Given the description of an element on the screen output the (x, y) to click on. 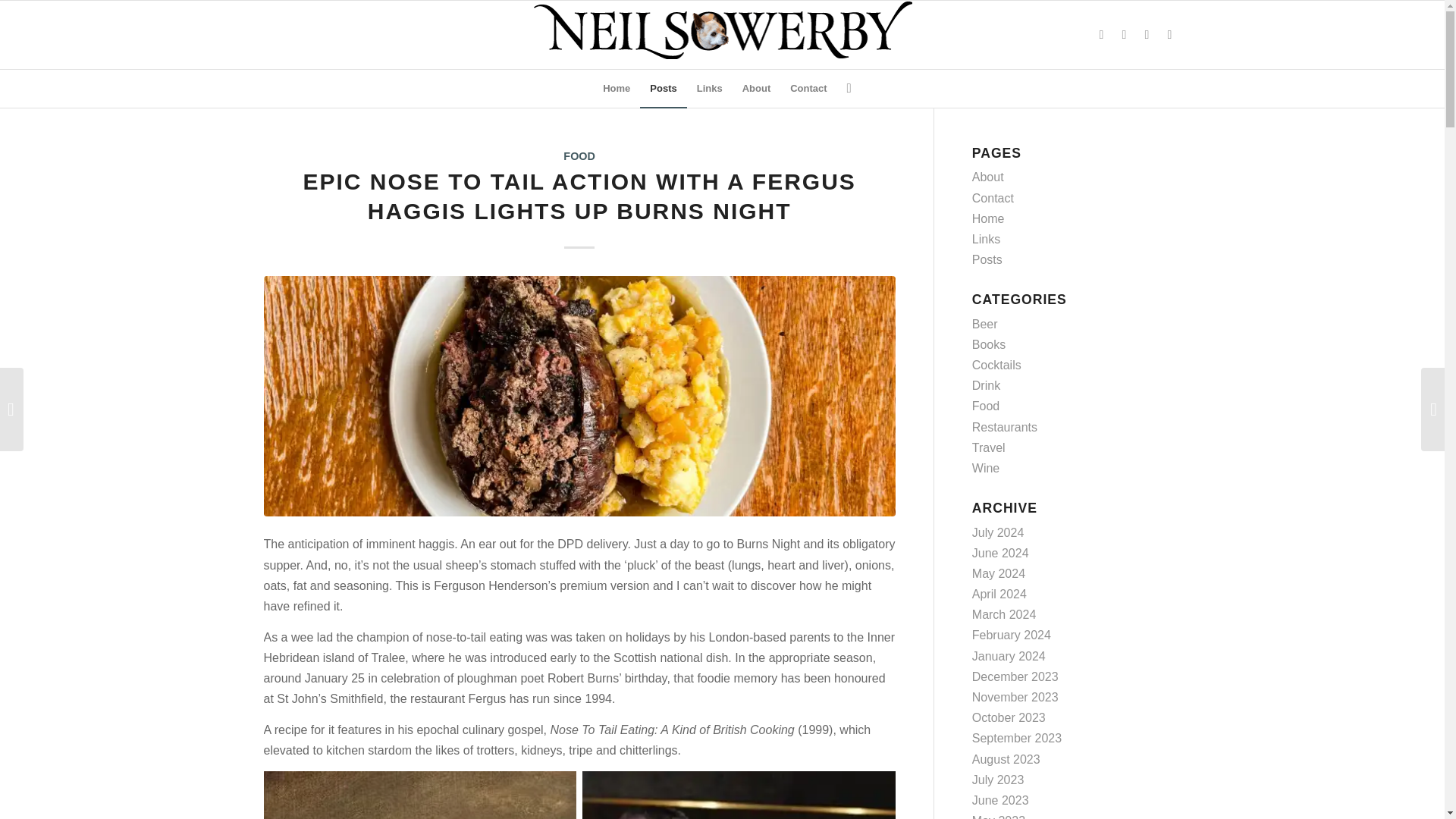
LinkedIn (1146, 34)
Instagram (1124, 34)
Posts (662, 88)
Home (616, 88)
FOOD (579, 155)
Links (709, 88)
Contact (807, 88)
NS-typemark-v1c (721, 29)
NS-typemark-v1c (721, 34)
About (988, 176)
About (756, 88)
X (1101, 34)
Facebook (1169, 34)
